Given the description of an element on the screen output the (x, y) to click on. 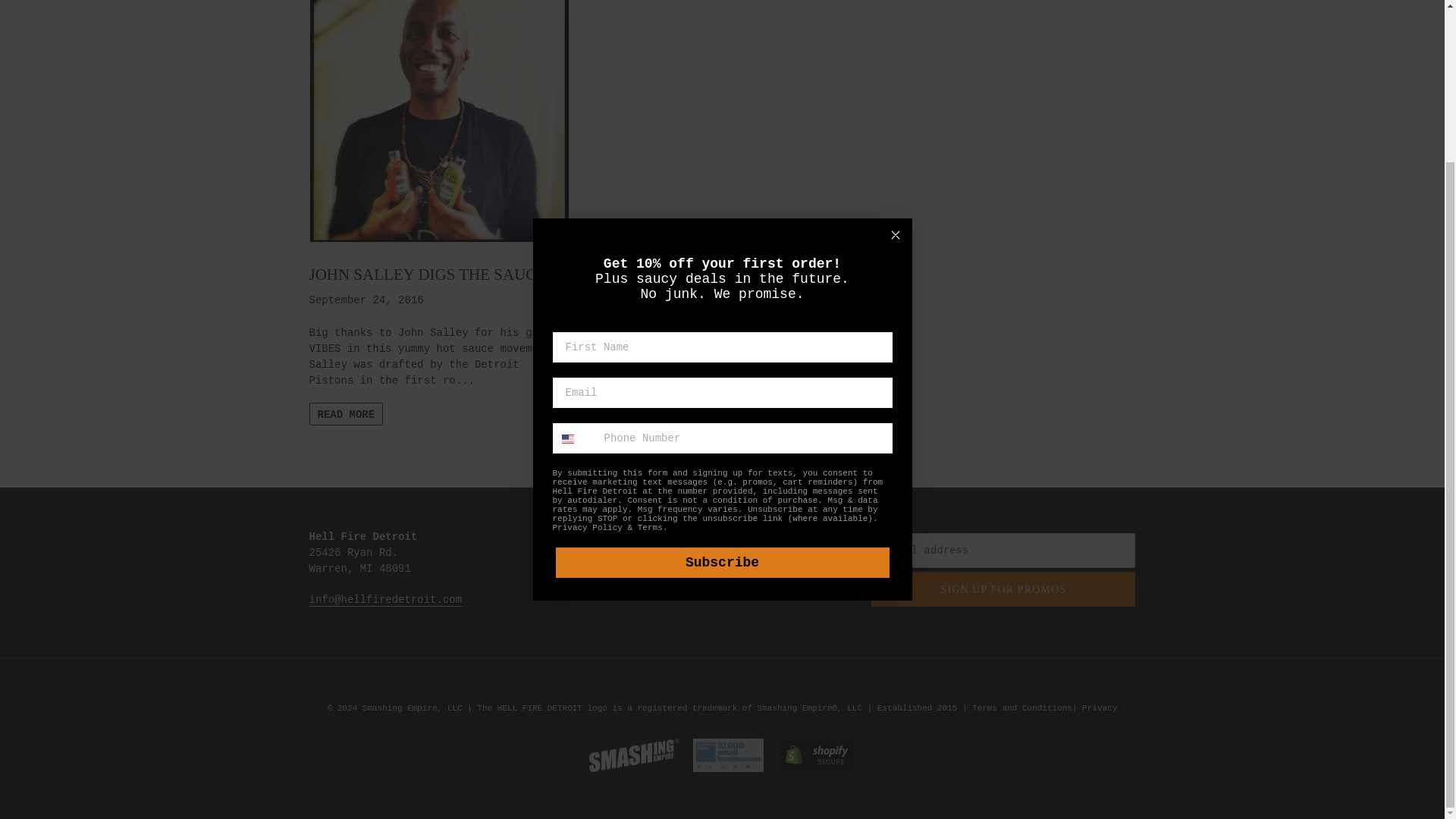
United States (566, 247)
READ MORE (346, 413)
Terms and Conditions (1021, 707)
Facebook (620, 552)
SIGN UP FOR PROMOS (1002, 588)
Privacy (1098, 707)
Instagram (624, 536)
JOHN SALLEY DIGS THE SAUCE! (438, 142)
Privacy Policy (586, 336)
Subscribe (721, 371)
Terms (649, 336)
